Given the description of an element on the screen output the (x, y) to click on. 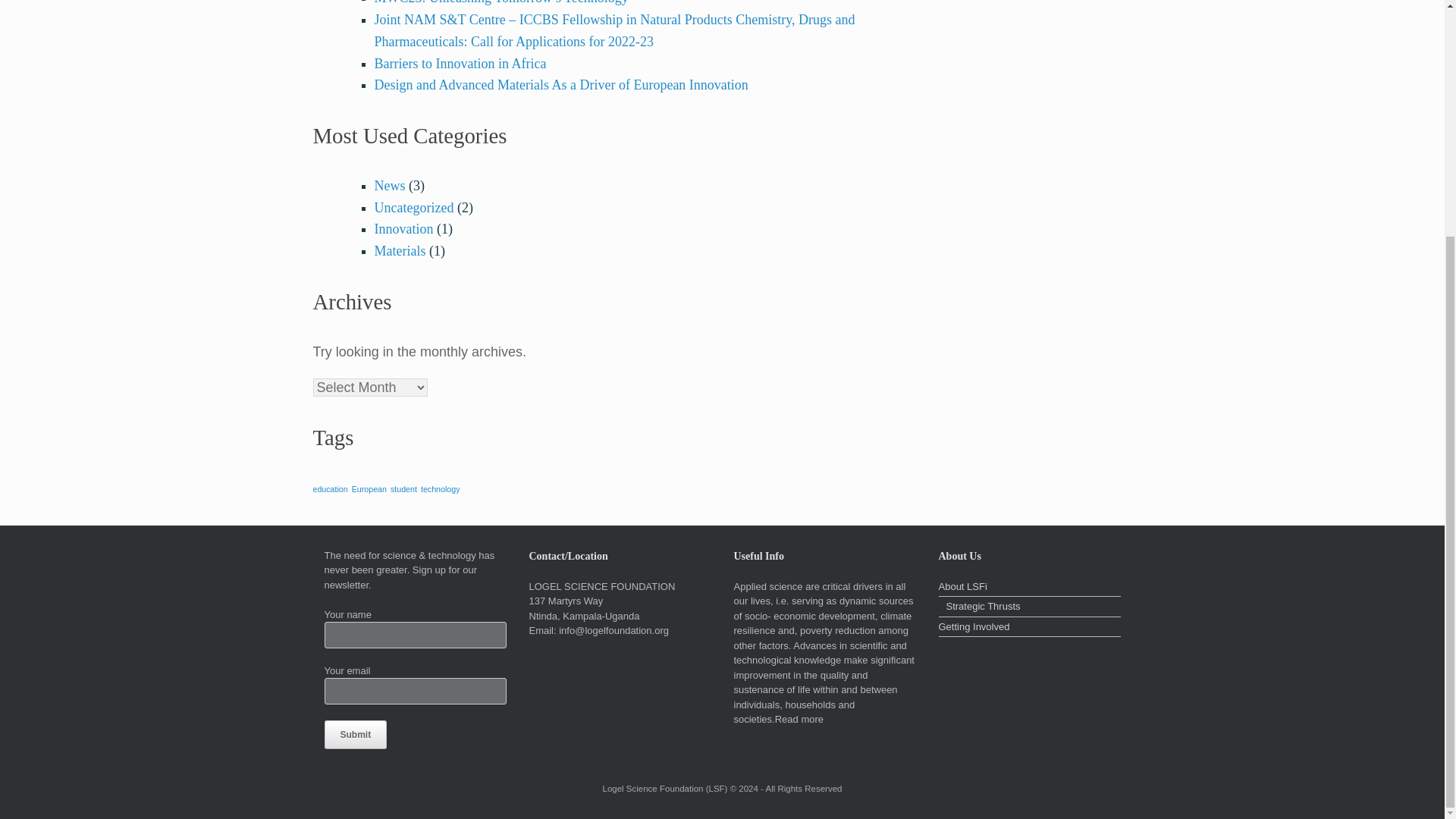
Uncategorized (414, 207)
News (390, 185)
Submit (355, 734)
education (330, 488)
Getting Involved (1030, 628)
European (369, 488)
Submit (355, 734)
Barriers to Innovation in Africa (460, 63)
About LSFi (1030, 588)
student (403, 488)
technology (440, 488)
Strategic Thrusts (1030, 607)
Innovation (403, 228)
Materials (400, 250)
